Given the description of an element on the screen output the (x, y) to click on. 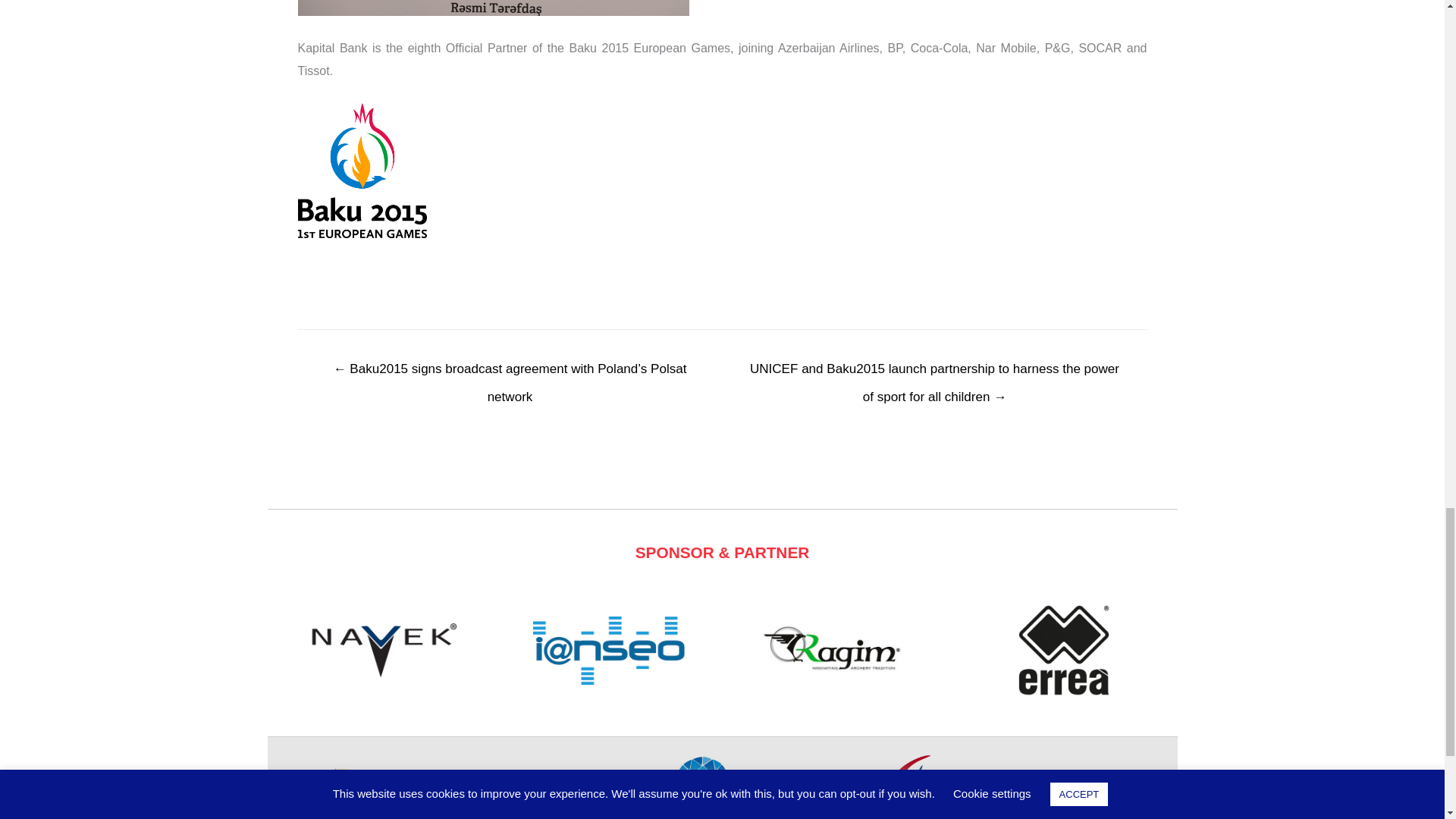
logoRagim (835, 650)
IOC-logo (816, 796)
european-olympic-committees-EOC-new-logo-design-3 (701, 785)
WADA2 (592, 794)
WorldArcheryExcellenceCenter (467, 791)
worldarchery (338, 792)
ianseo (608, 649)
